Given the description of an element on the screen output the (x, y) to click on. 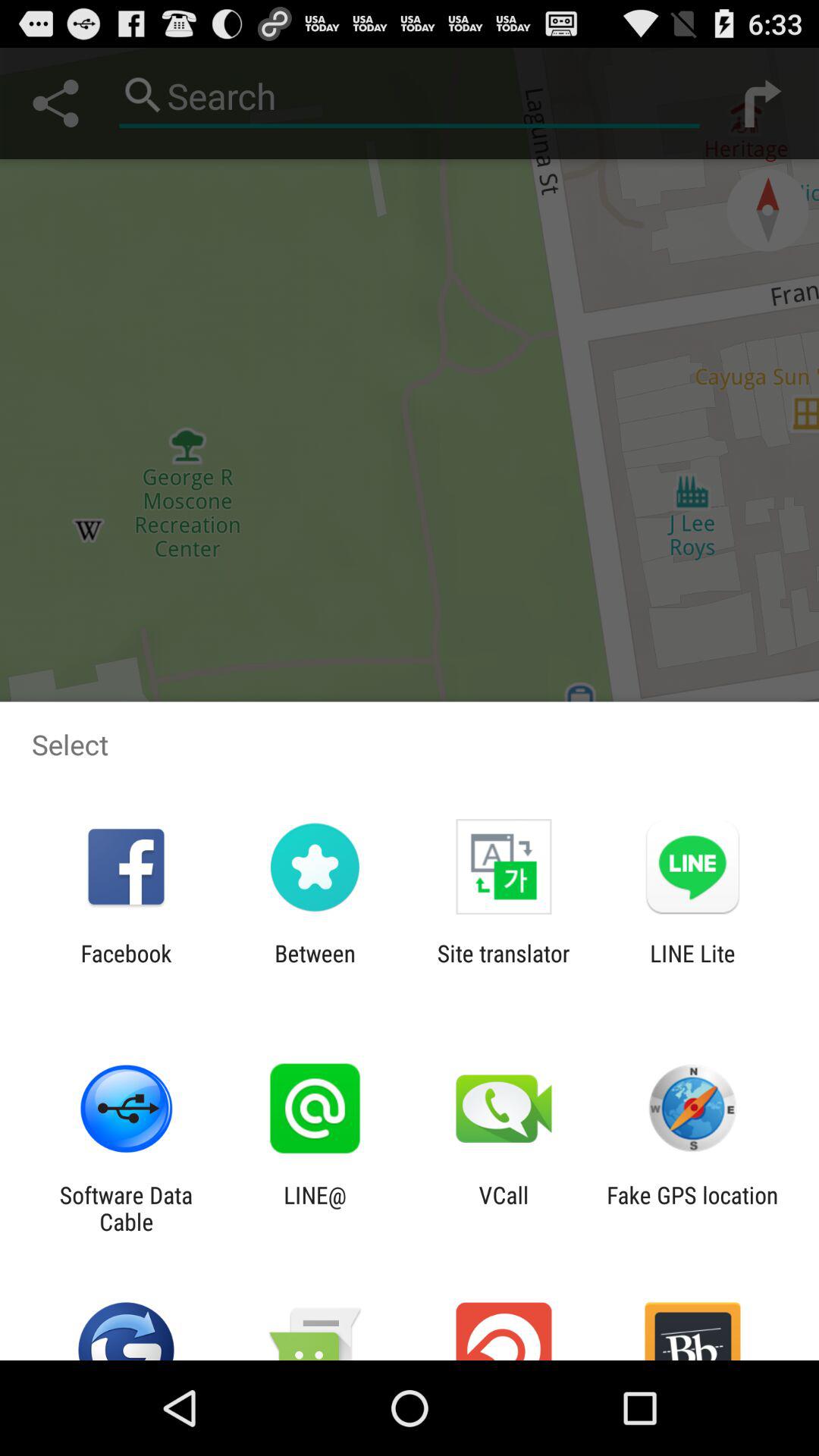
select item next to the line@ app (503, 1208)
